Given the description of an element on the screen output the (x, y) to click on. 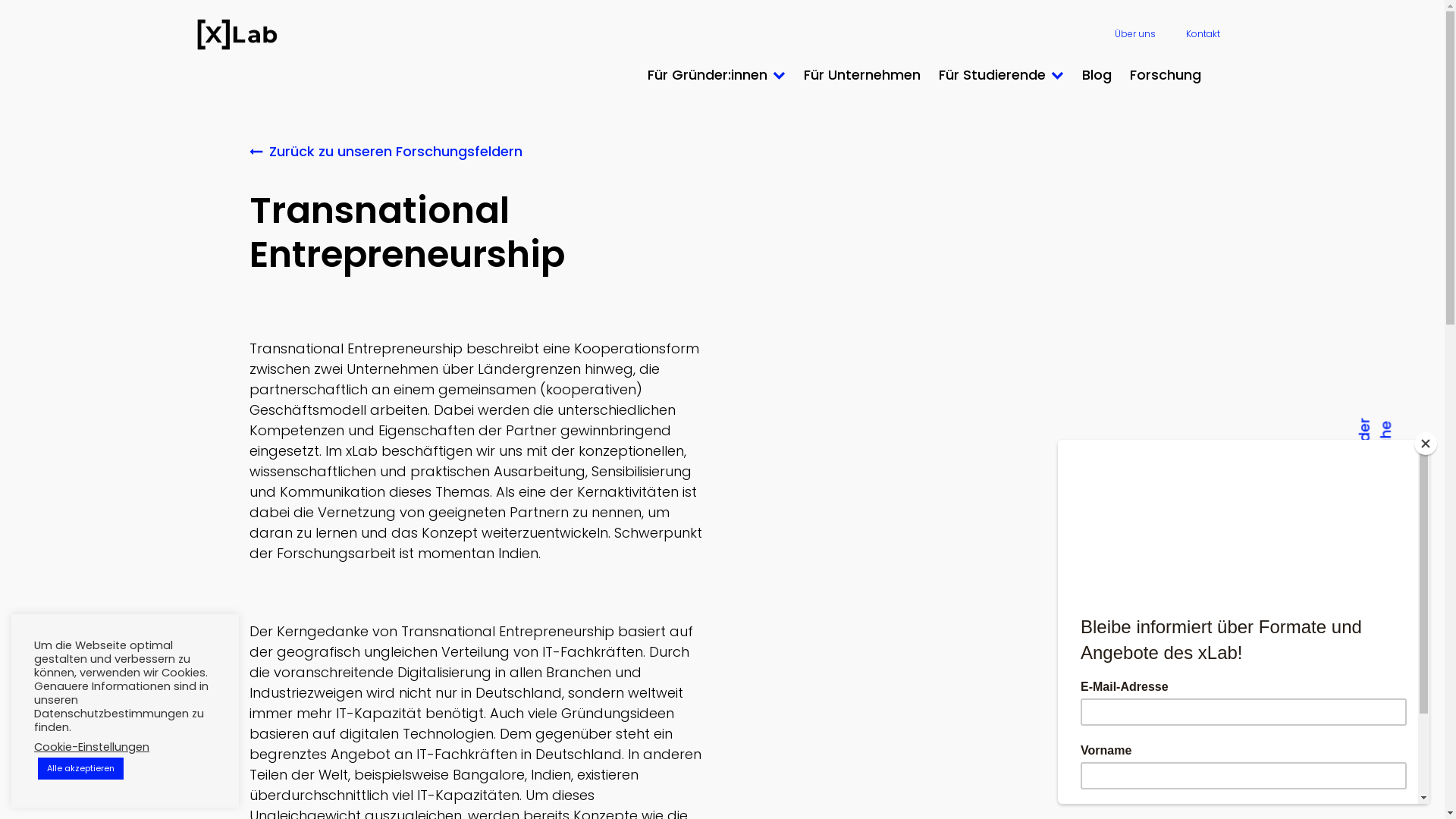
Cookie-Einstellungen Element type: text (91, 746)
Kontakt Element type: text (1202, 34)
Blog Element type: text (1096, 73)
Alle akzeptieren Element type: text (80, 768)
Forschung Element type: text (1165, 73)
